Given the description of an element on the screen output the (x, y) to click on. 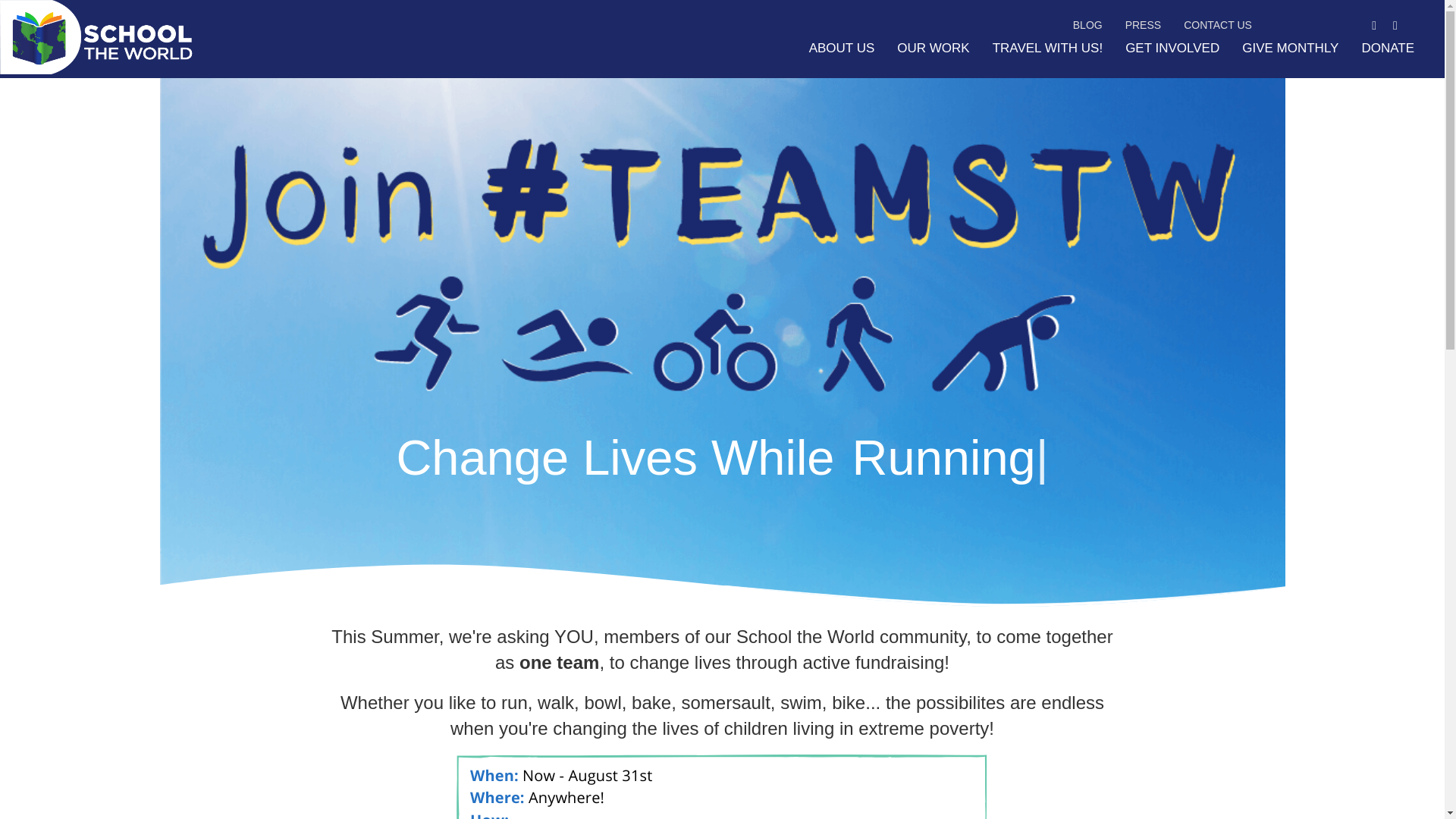
GIVE MONTHLY (1289, 48)
BLOG (1087, 24)
CONTACT US (1217, 24)
DONATE (1388, 48)
GET INVOLVED (1172, 48)
PRESS (1143, 24)
ABOUT US (842, 48)
OUR WORK (932, 48)
TRAVEL WITH US! (1047, 48)
